Given the description of an element on the screen output the (x, y) to click on. 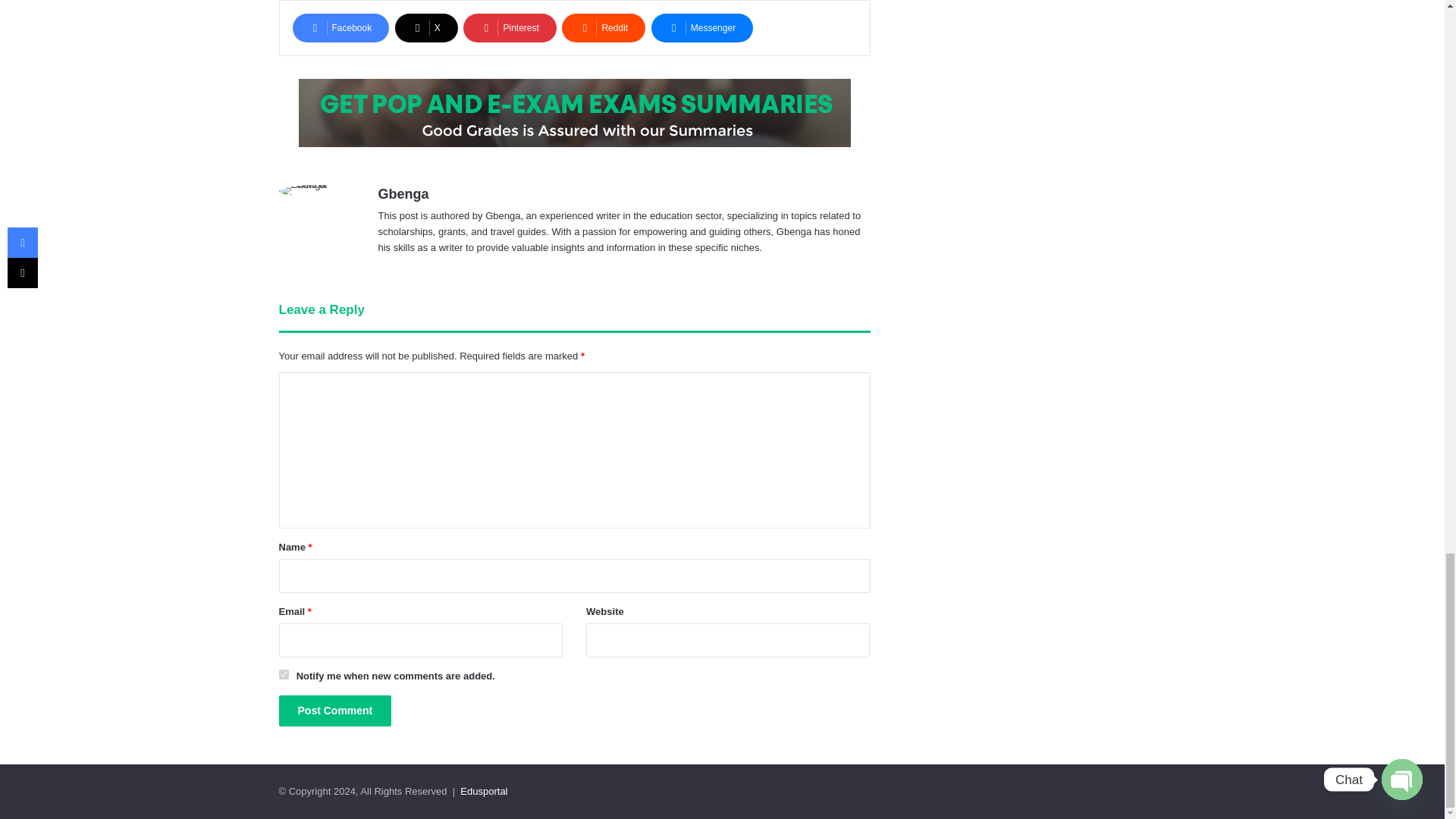
Pinterest (509, 27)
Messenger (701, 27)
Facebook (341, 27)
Reddit (603, 27)
Messenger (701, 27)
Post Comment (335, 710)
1 (283, 674)
Pinterest (509, 27)
X (426, 27)
Reddit (603, 27)
X (426, 27)
Facebook (341, 27)
